Given the description of an element on the screen output the (x, y) to click on. 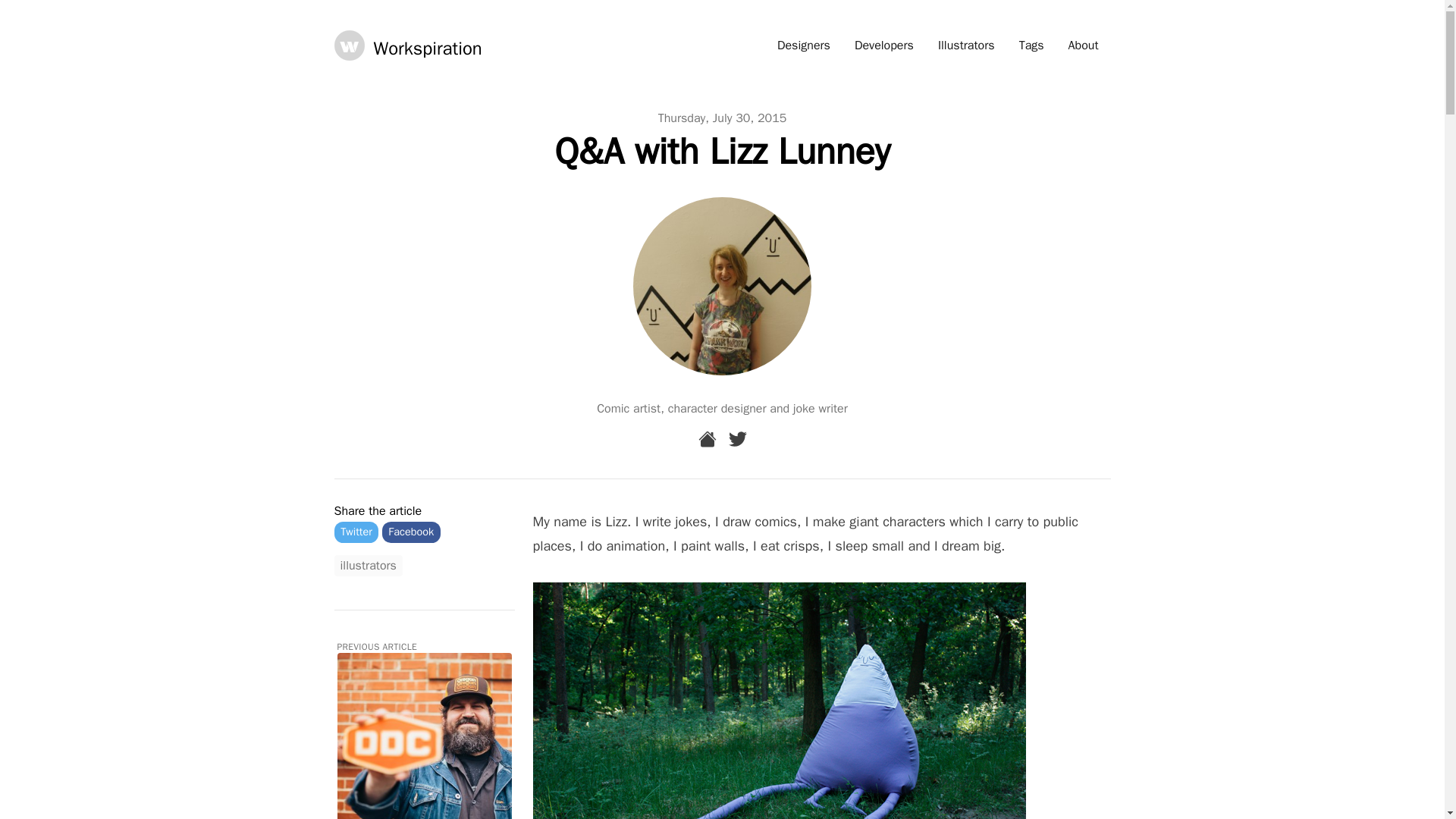
Facebook (411, 531)
Workspiration (407, 45)
About (1083, 45)
twitter (737, 438)
Illustrators (966, 45)
Developers (884, 45)
Designers (804, 45)
illustrators (367, 565)
house (706, 438)
Tags (1032, 45)
Twitter (355, 531)
